Given the description of an element on the screen output the (x, y) to click on. 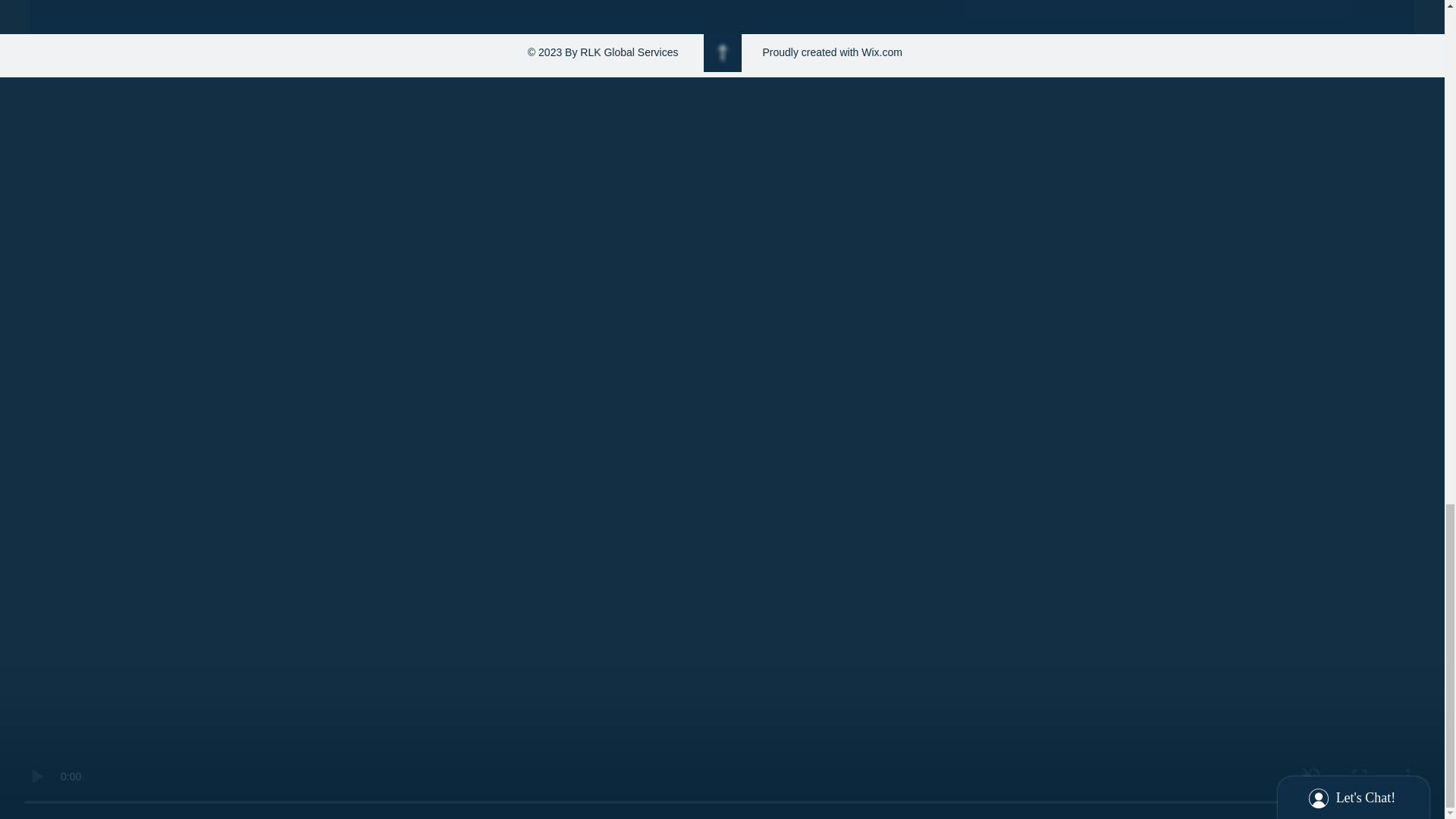
Proudly created with Wix.com (832, 51)
